Given the description of an element on the screen output the (x, y) to click on. 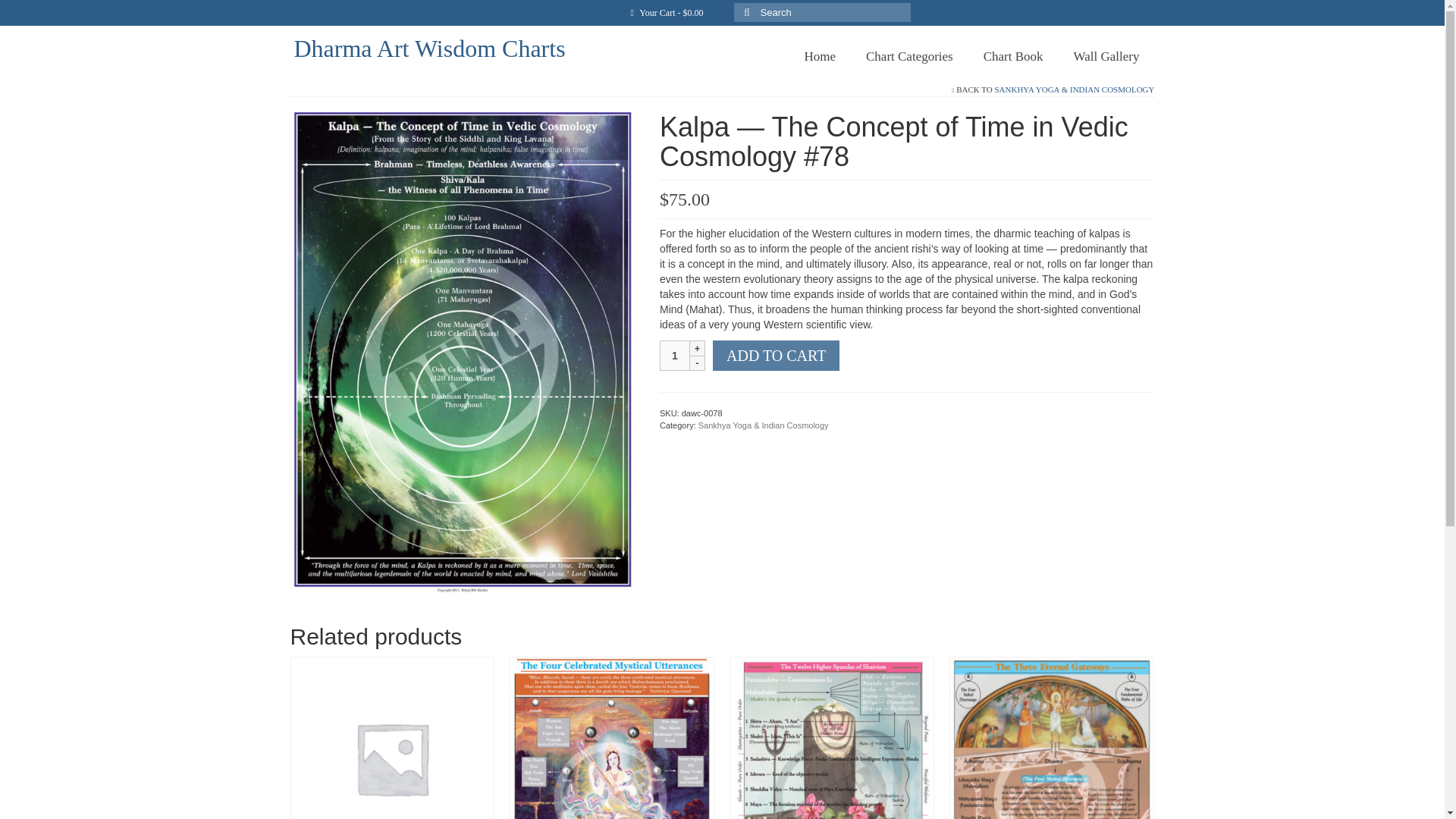
1 (674, 355)
Dharma Art Wisdom Charts (430, 48)
Chart Book (1013, 56)
Chart Categories (909, 56)
- (697, 363)
ADD TO CART (776, 355)
Wall Gallery (1106, 56)
Home (819, 56)
View your shopping cart (666, 12)
